Given the description of an element on the screen output the (x, y) to click on. 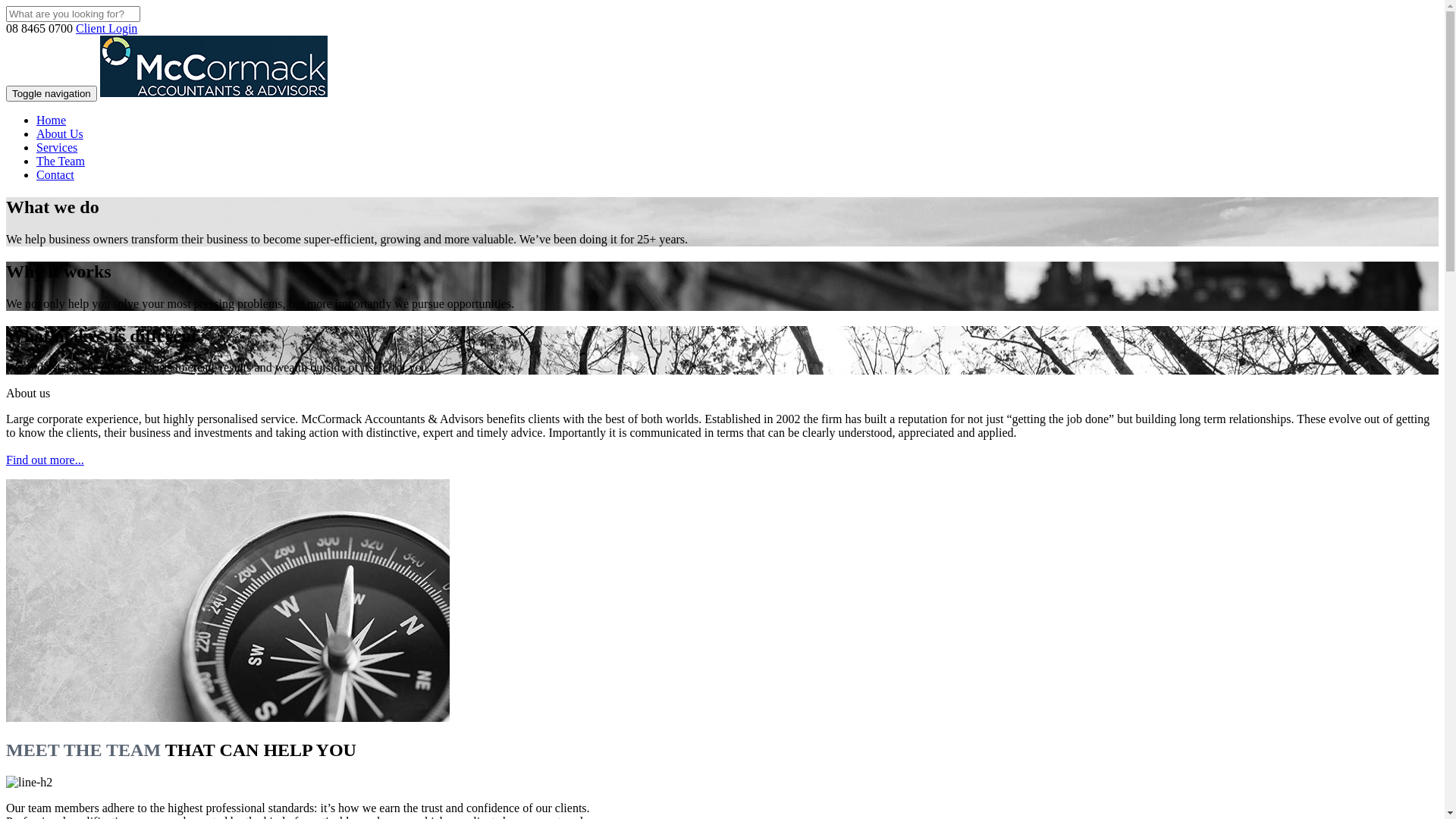
Services Element type: text (56, 147)
Toggle navigation Element type: text (51, 93)
Home Element type: text (50, 119)
About Us Element type: text (59, 133)
Find out more... Element type: text (45, 459)
The Team Element type: text (60, 160)
Contact Element type: text (55, 174)
Client Login Element type: text (106, 27)
